Given the description of an element on the screen output the (x, y) to click on. 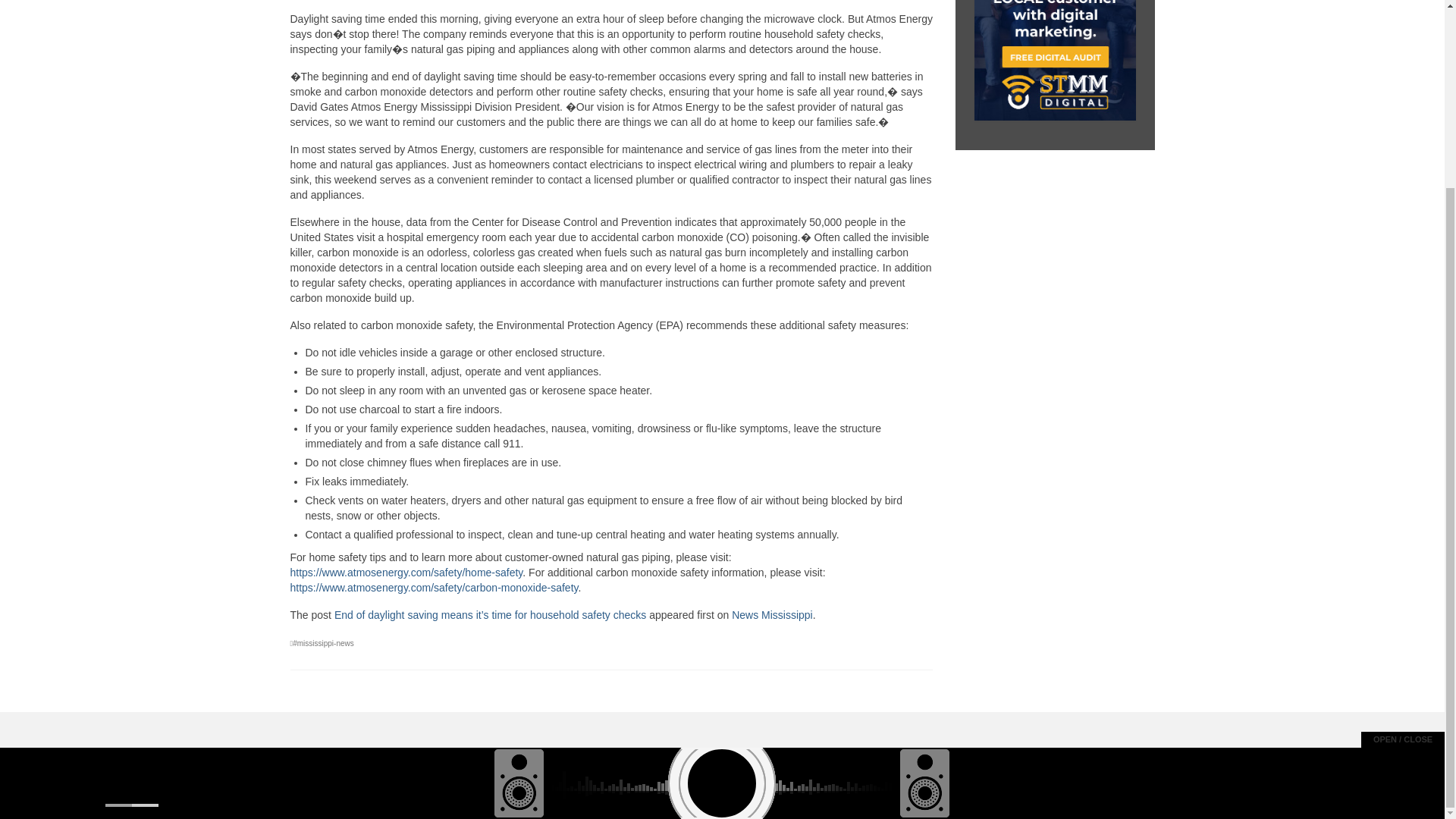
Twitter (1431, 574)
News Mississippi (772, 614)
Facebook (1431, 558)
Popup (1431, 541)
